Given the description of an element on the screen output the (x, y) to click on. 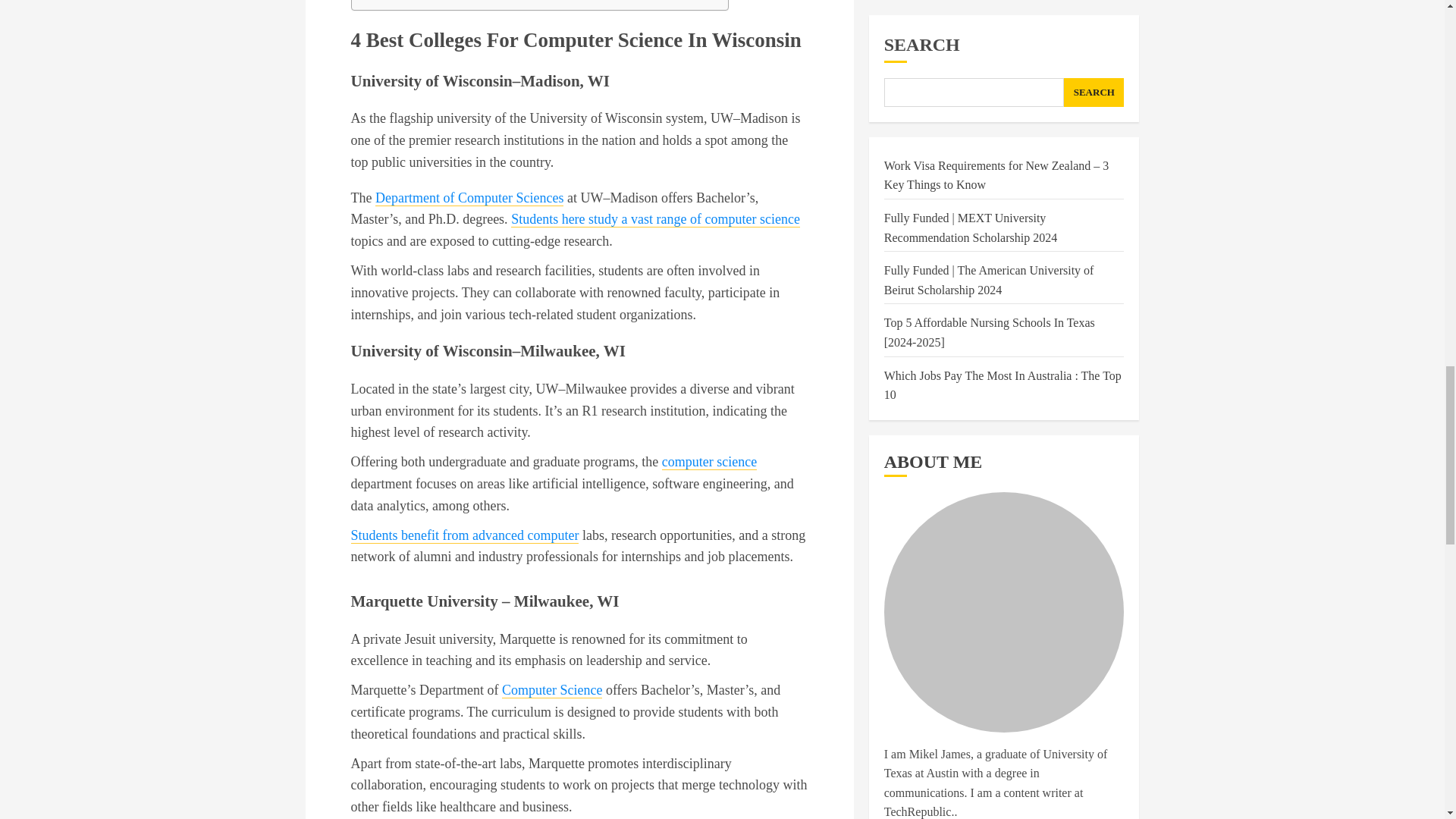
Computer Science (552, 690)
Department of Computer Sciences (469, 198)
Students here study a vast range of computer science (655, 219)
Students benefit from advanced computer (464, 535)
computer science (709, 462)
